Given the description of an element on the screen output the (x, y) to click on. 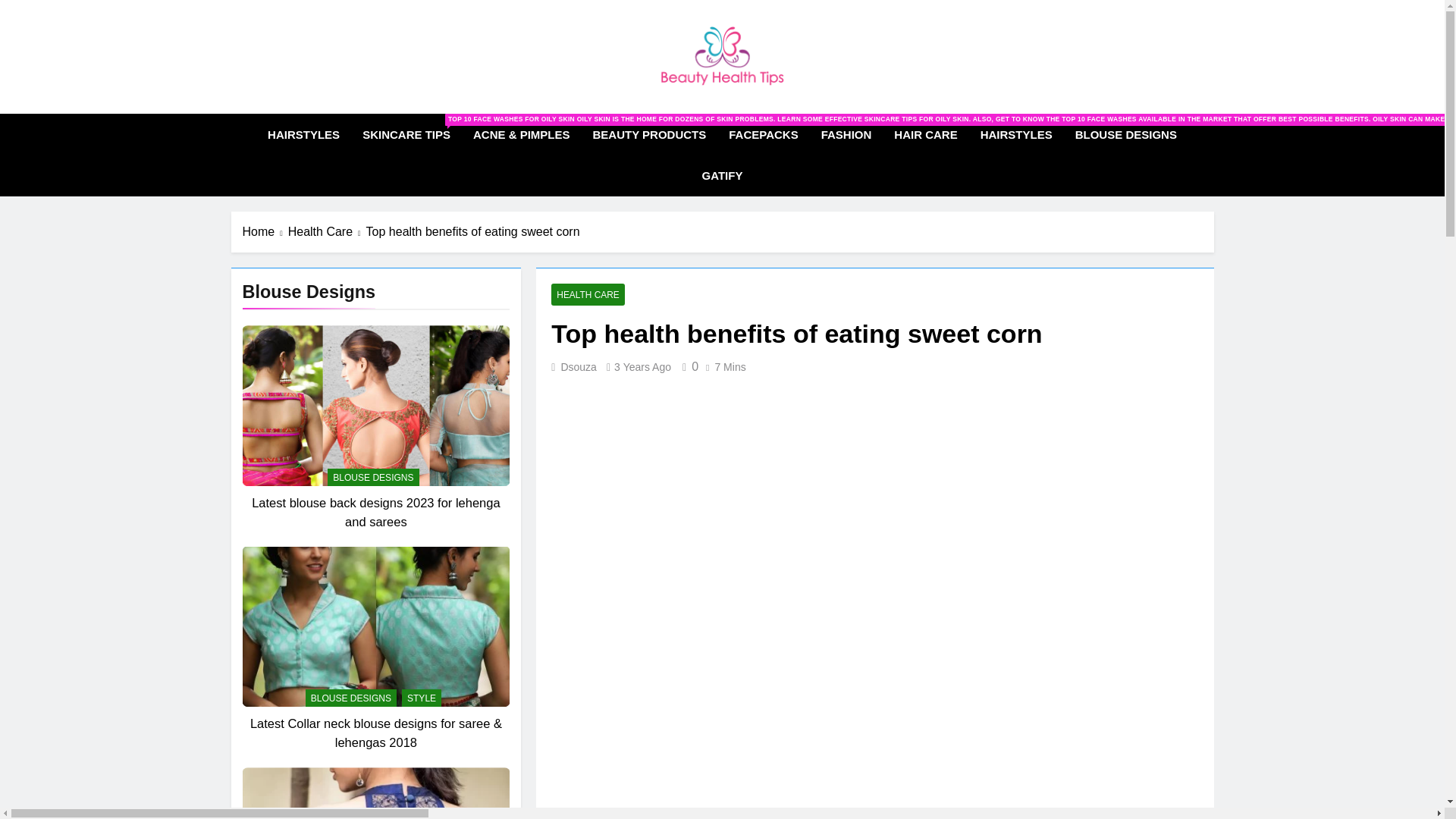
BEAUTY PRODUCTS (648, 134)
FACEPACKS (763, 134)
HAIRSTYLES (1016, 134)
Beauty Health Tips (620, 107)
BLOUSE DESIGNS (373, 477)
Home (265, 231)
BLOUSE DESIGNS (1126, 134)
Health Care (327, 231)
GATIFY (722, 175)
STYLE (421, 697)
